Given the description of an element on the screen output the (x, y) to click on. 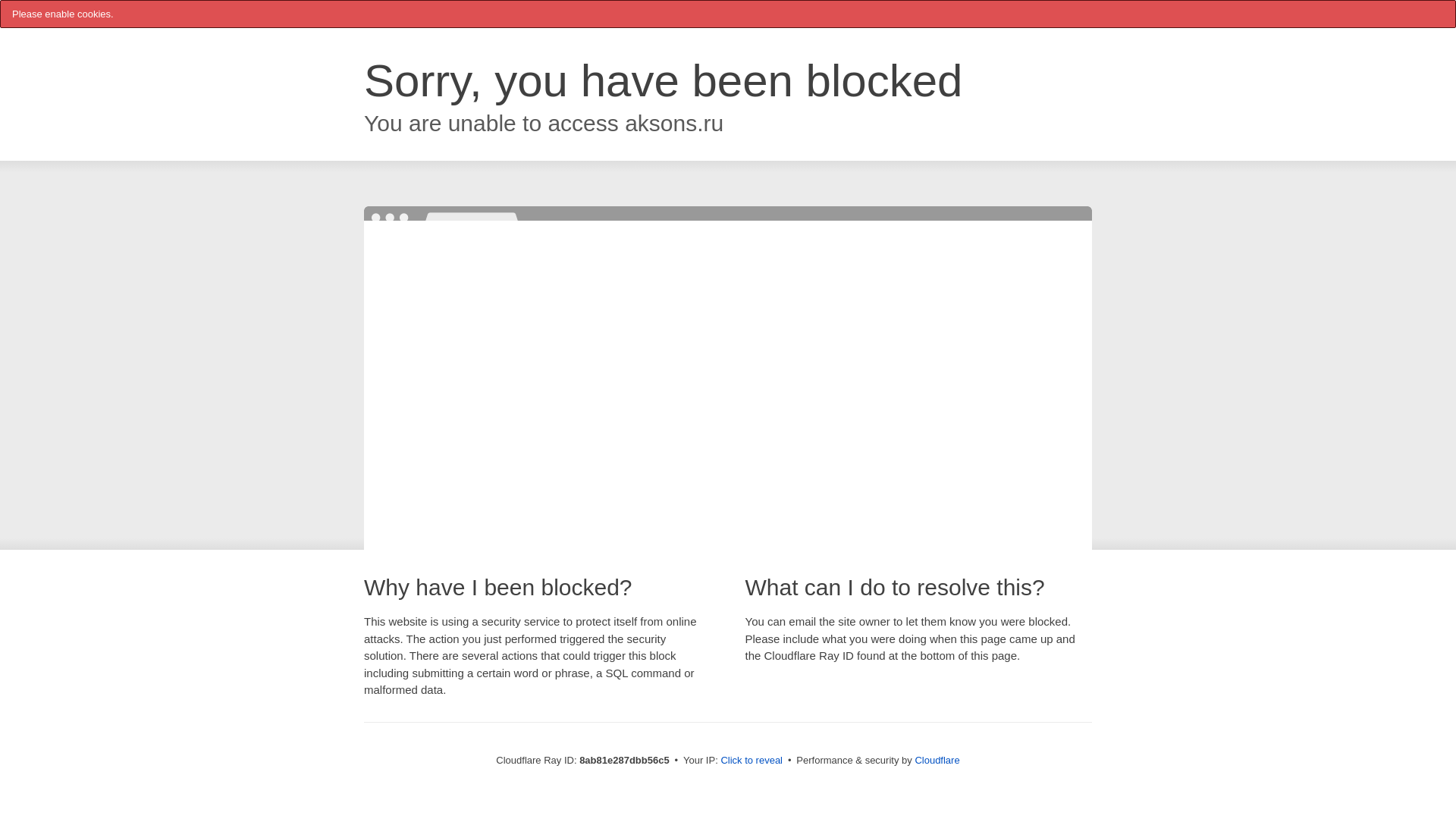
Cloudflare (936, 759)
Click to reveal (751, 760)
